Given the description of an element on the screen output the (x, y) to click on. 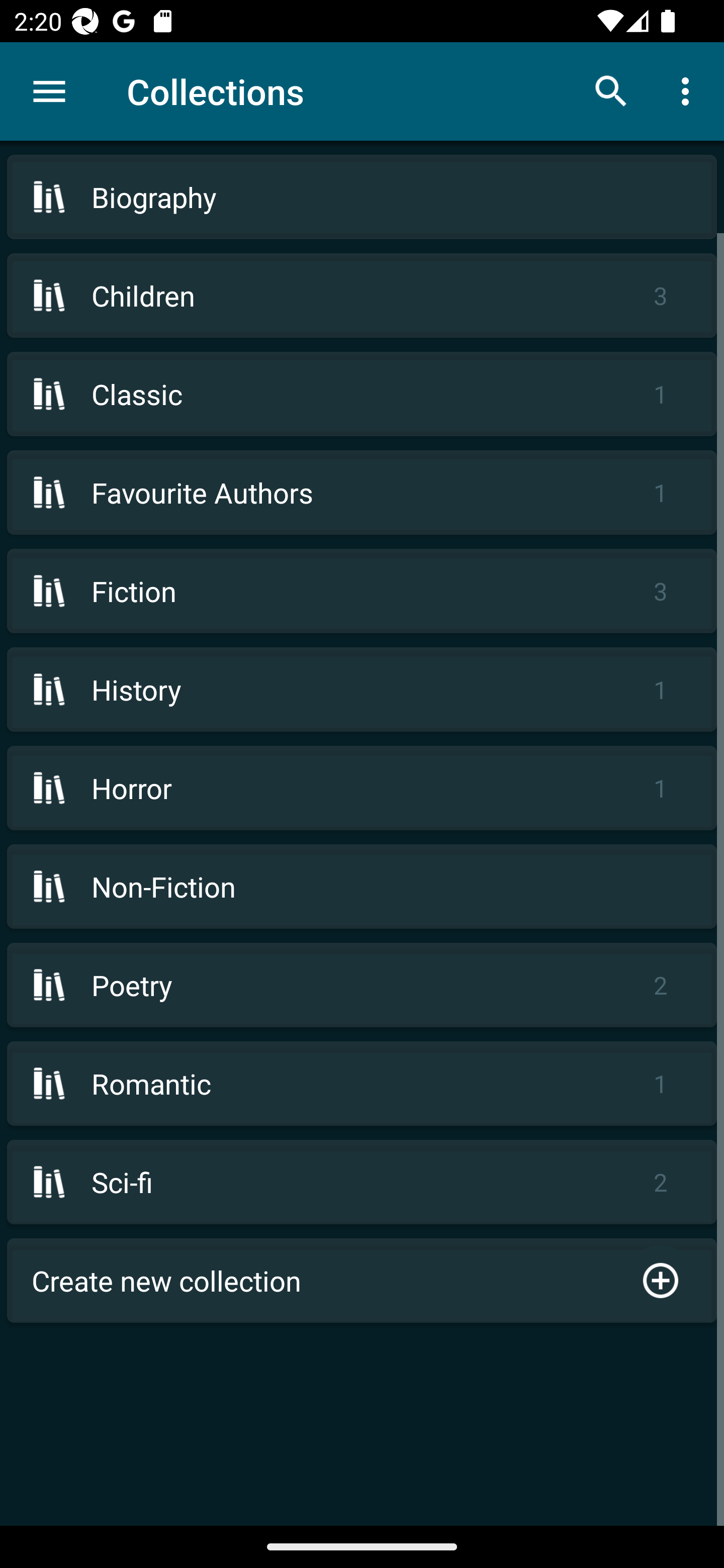
Menu (49, 91)
Search books & documents (611, 90)
More options (688, 90)
Biography (361, 197)
Children 3 (361, 295)
Classic 1 (361, 393)
Favourite Authors 1 (361, 492)
Fiction 3 (361, 590)
History 1 (361, 689)
Horror 1 (361, 787)
Non-Fiction (361, 885)
Poetry 2 (361, 984)
Romantic 1 (361, 1083)
Sci-fi 2 (361, 1181)
Create new collection (361, 1280)
